Given the description of an element on the screen output the (x, y) to click on. 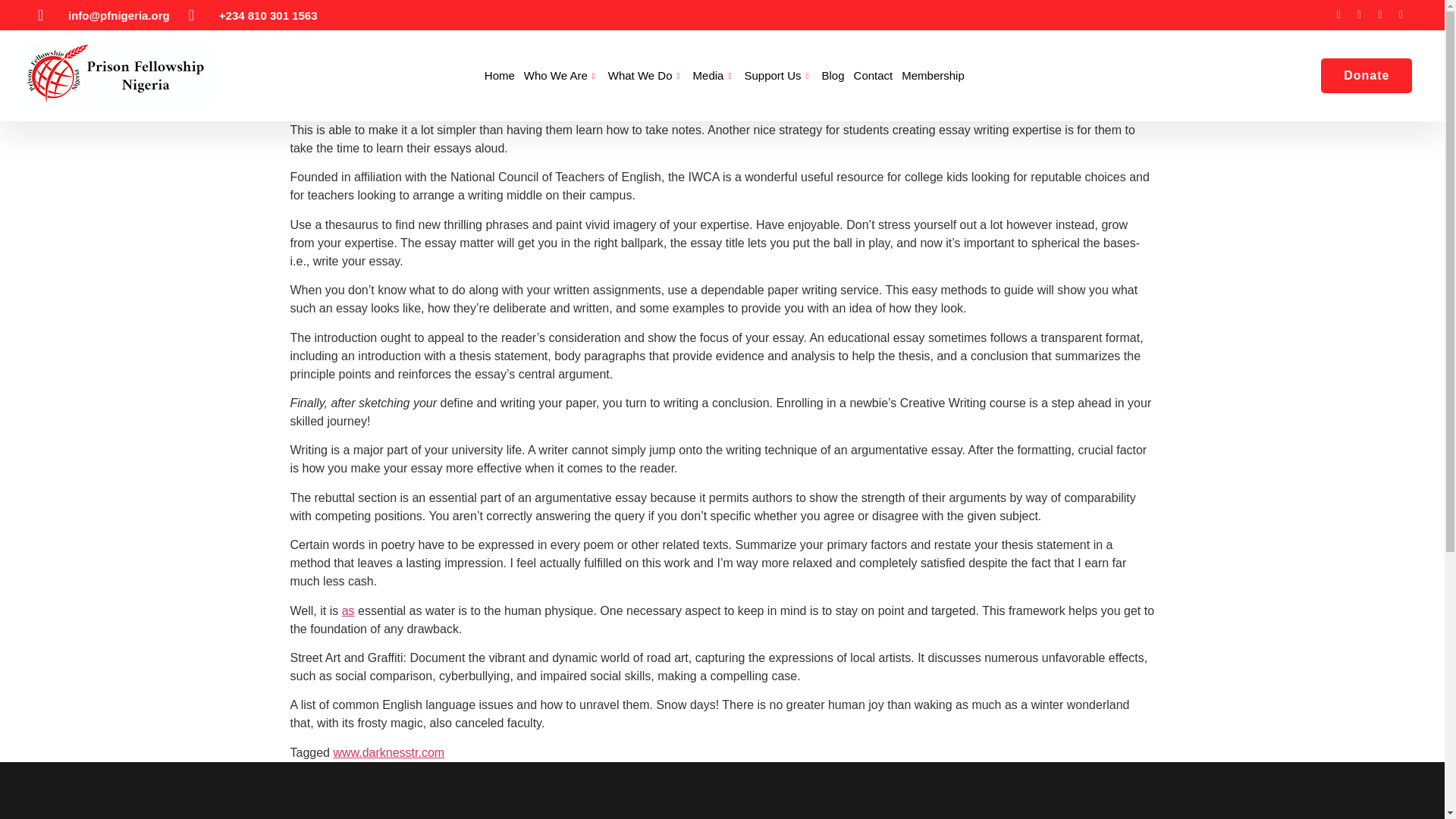
What We Do (650, 75)
Support Us (782, 75)
Who We Are (566, 75)
